Given the description of an element on the screen output the (x, y) to click on. 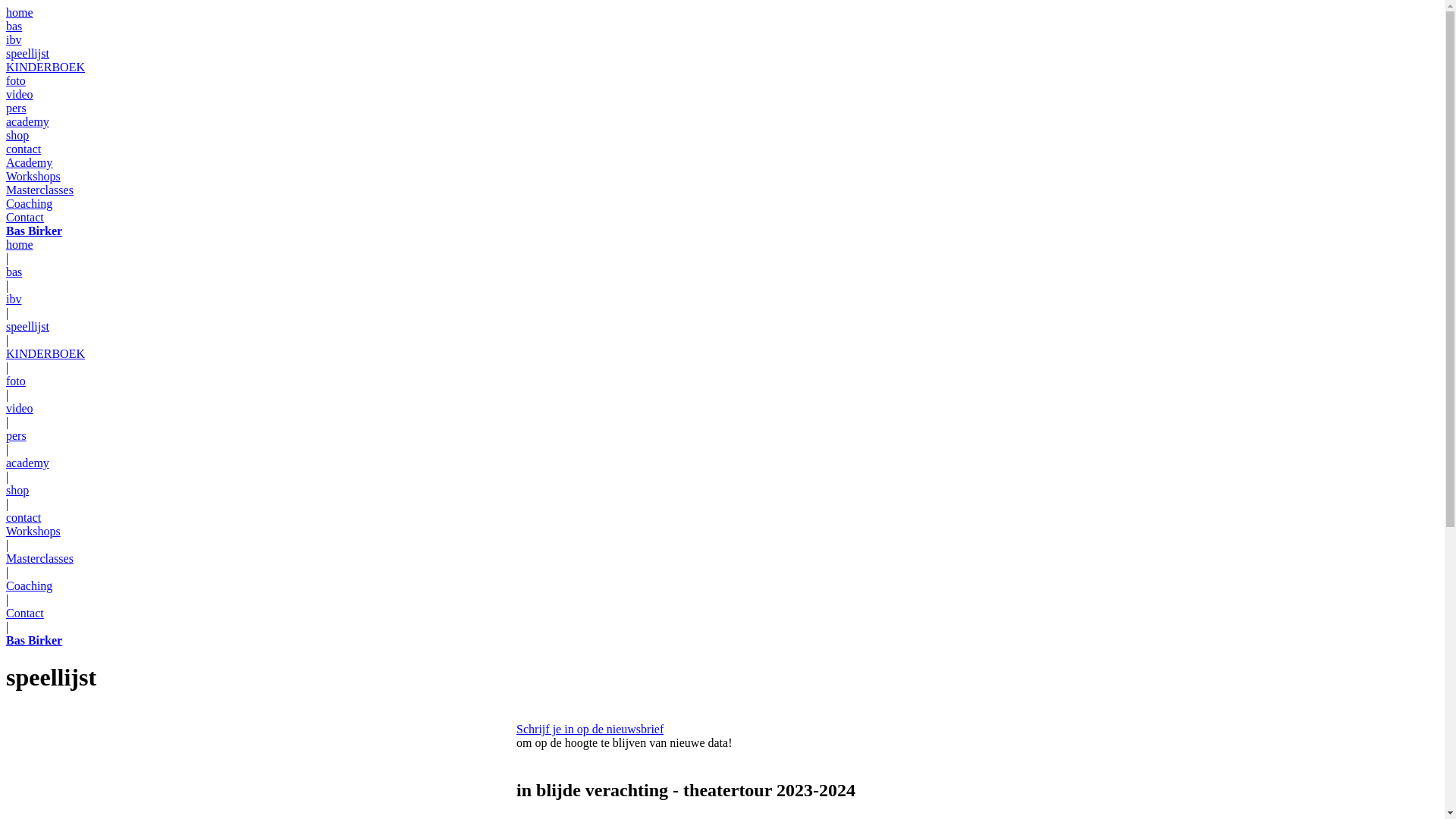
KINDERBOEK Element type: text (45, 66)
academy Element type: text (27, 462)
academy Element type: text (27, 121)
bas Element type: text (13, 271)
speellijst Element type: text (27, 53)
Bas Birker Element type: text (34, 230)
Coaching Element type: text (29, 585)
Schrijf je in op de nieuwsbrief Element type: text (589, 728)
Workshops Element type: text (33, 530)
Masterclasses Element type: text (39, 558)
shop Element type: text (17, 134)
shop Element type: text (17, 489)
foto Element type: text (15, 80)
Bas Birker Element type: text (34, 639)
video Element type: text (19, 93)
bas Element type: text (13, 25)
Contact Element type: text (24, 216)
contact Element type: text (23, 517)
pers Element type: text (16, 435)
home Element type: text (19, 12)
video Element type: text (19, 407)
Academy Element type: text (29, 162)
Coaching Element type: text (29, 203)
Contact Element type: text (24, 612)
pers Element type: text (16, 107)
KINDERBOEK Element type: text (45, 353)
ibv Element type: text (13, 39)
Masterclasses Element type: text (39, 189)
Workshops Element type: text (33, 175)
speellijst Element type: text (27, 326)
contact Element type: text (23, 148)
ibv Element type: text (13, 298)
home Element type: text (19, 244)
foto Element type: text (15, 380)
